Given the description of an element on the screen output the (x, y) to click on. 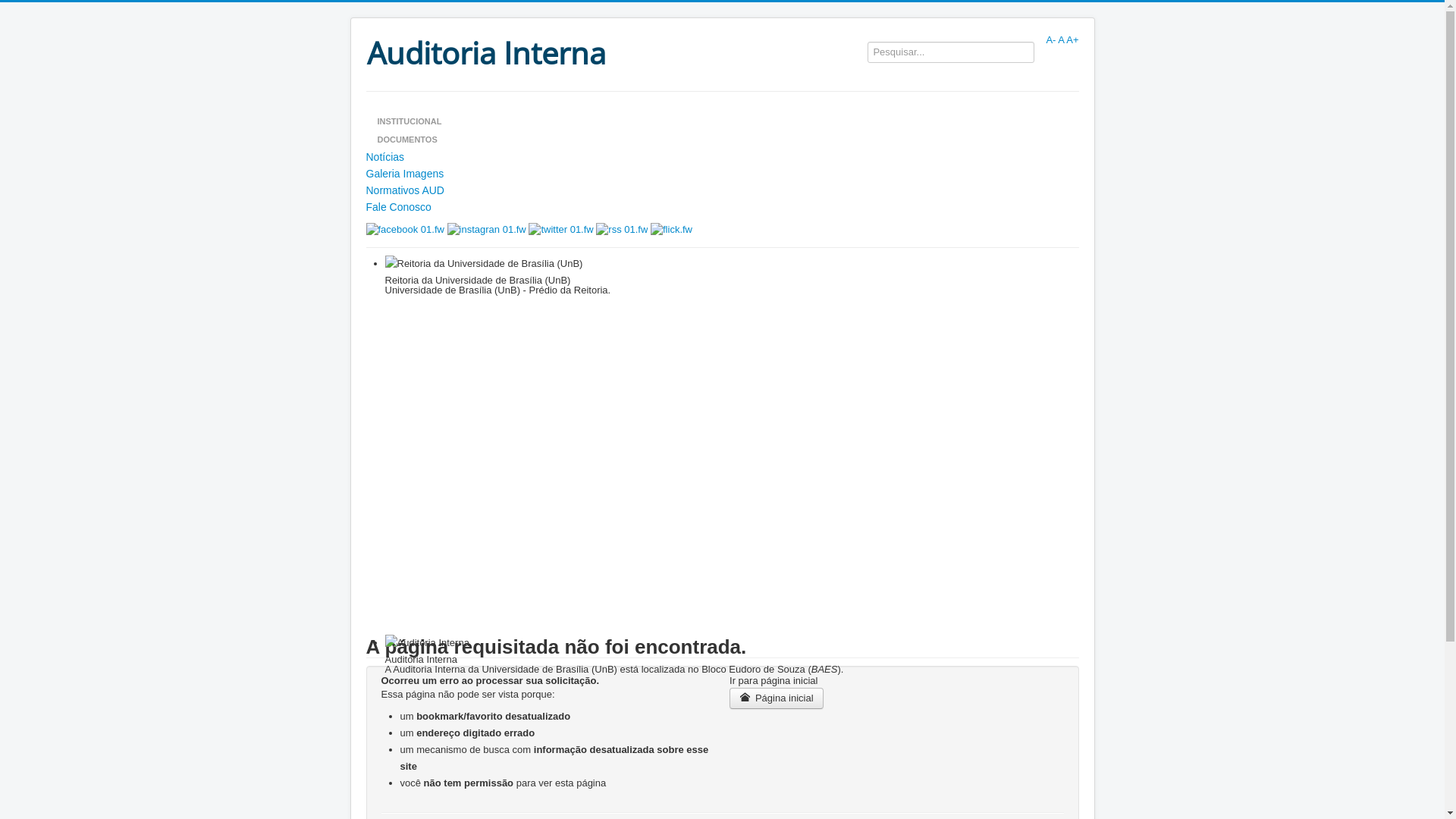
Fale Conosco Element type: text (721, 206)
A Element type: text (1060, 39)
A+ Element type: text (1072, 39)
A- Element type: text (1050, 39)
Galeria Imagens Element type: text (721, 173)
Auditoria Interna Element type: text (490, 52)
Normativos AUD Element type: text (721, 190)
